Given the description of an element on the screen output the (x, y) to click on. 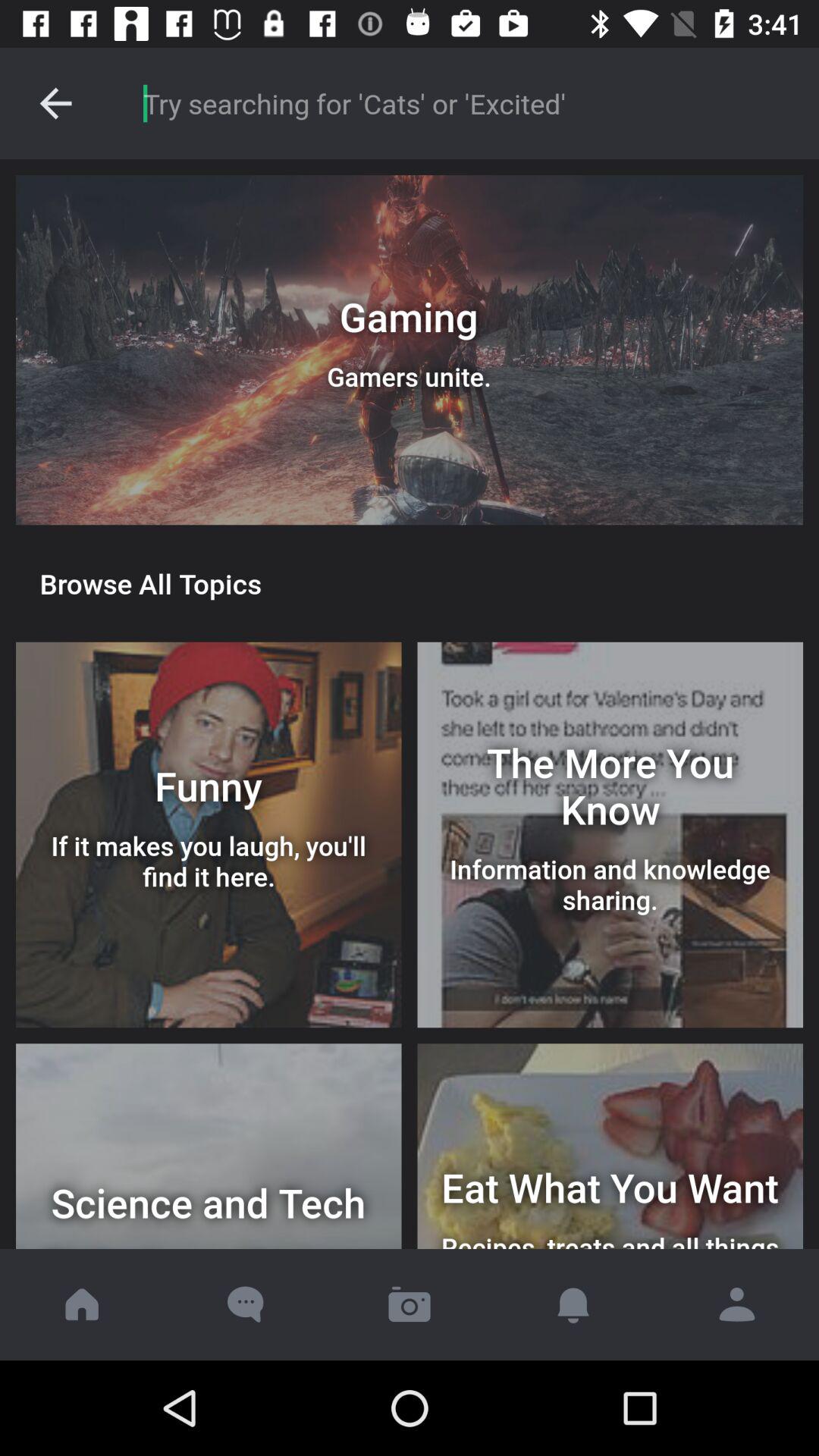
save image (409, 1304)
